Given the description of an element on the screen output the (x, y) to click on. 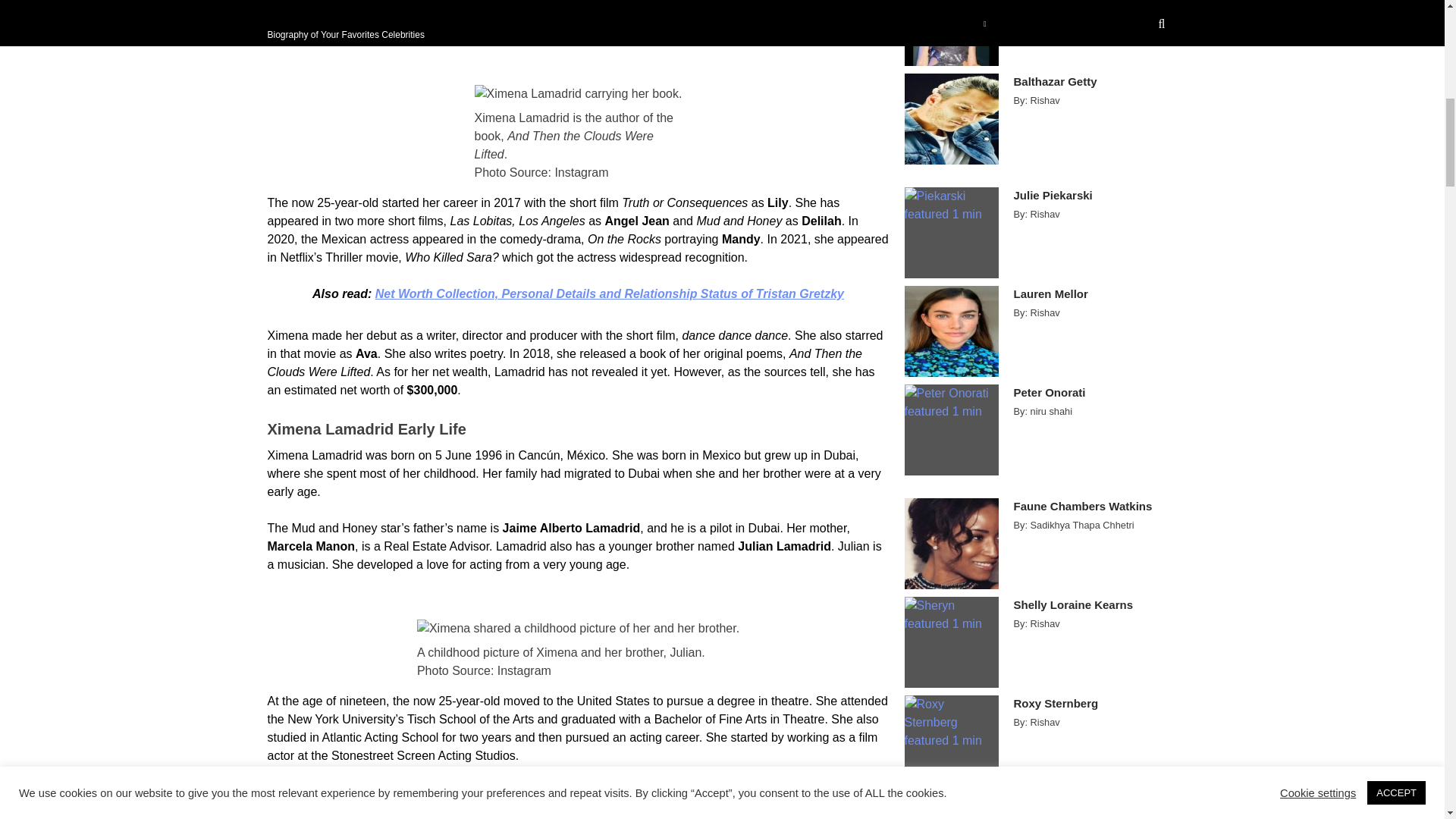
Balthazar Getty 10 (950, 118)
Khatia Buniatishvili (1087, 3)
featured biography (355, 791)
Khatia Buniatishvili 9 (950, 33)
Ximena Lamadrid 3 (578, 94)
Ximena Lamadrid 4 (577, 628)
